Given the description of an element on the screen output the (x, y) to click on. 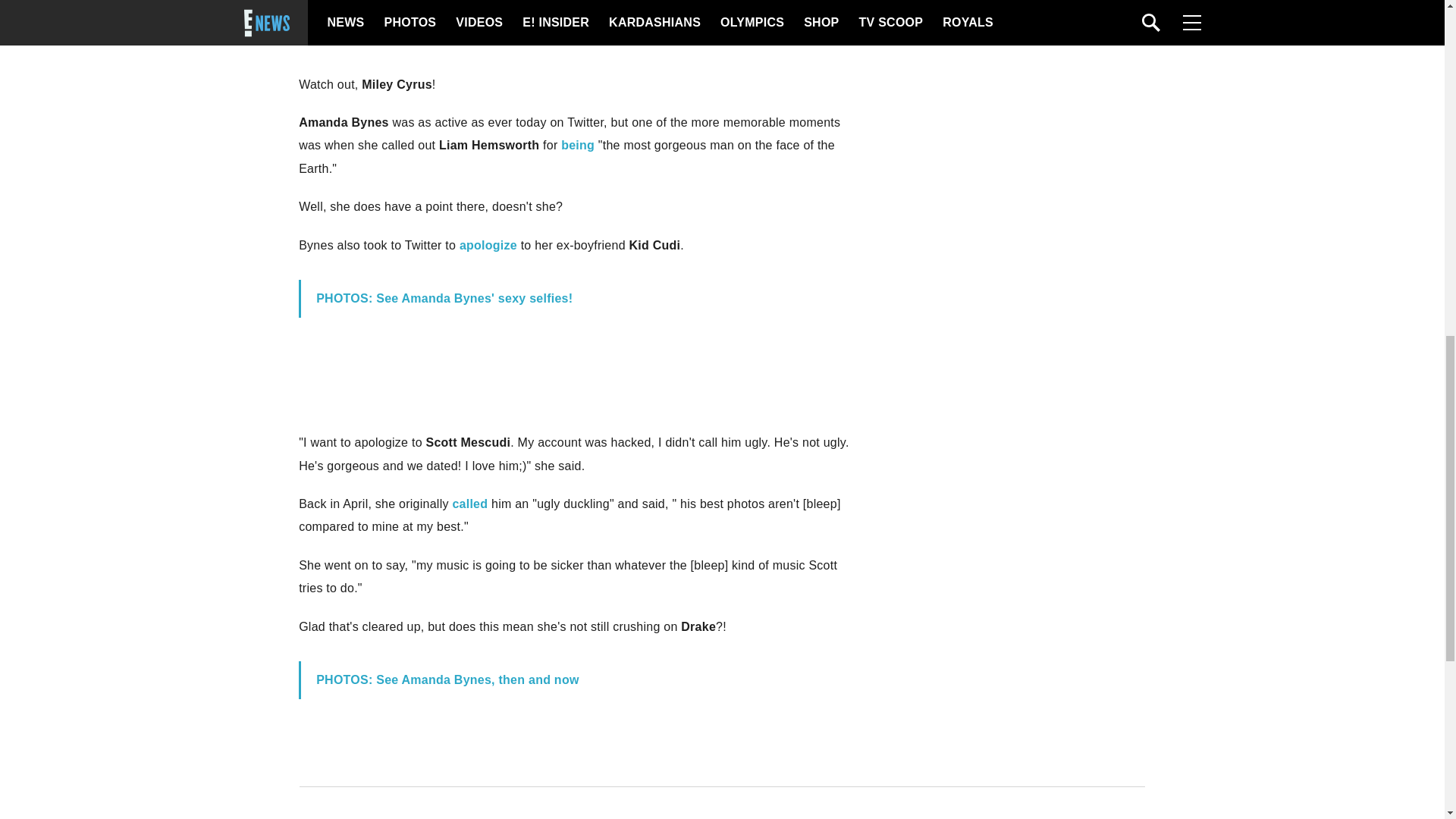
PHOTOS: See Amanda Bynes' sexy selfies! (443, 297)
PHOTOS: See Amanda Bynes, then and now (446, 679)
apologize (488, 244)
called (469, 503)
being (577, 144)
